Given the description of an element on the screen output the (x, y) to click on. 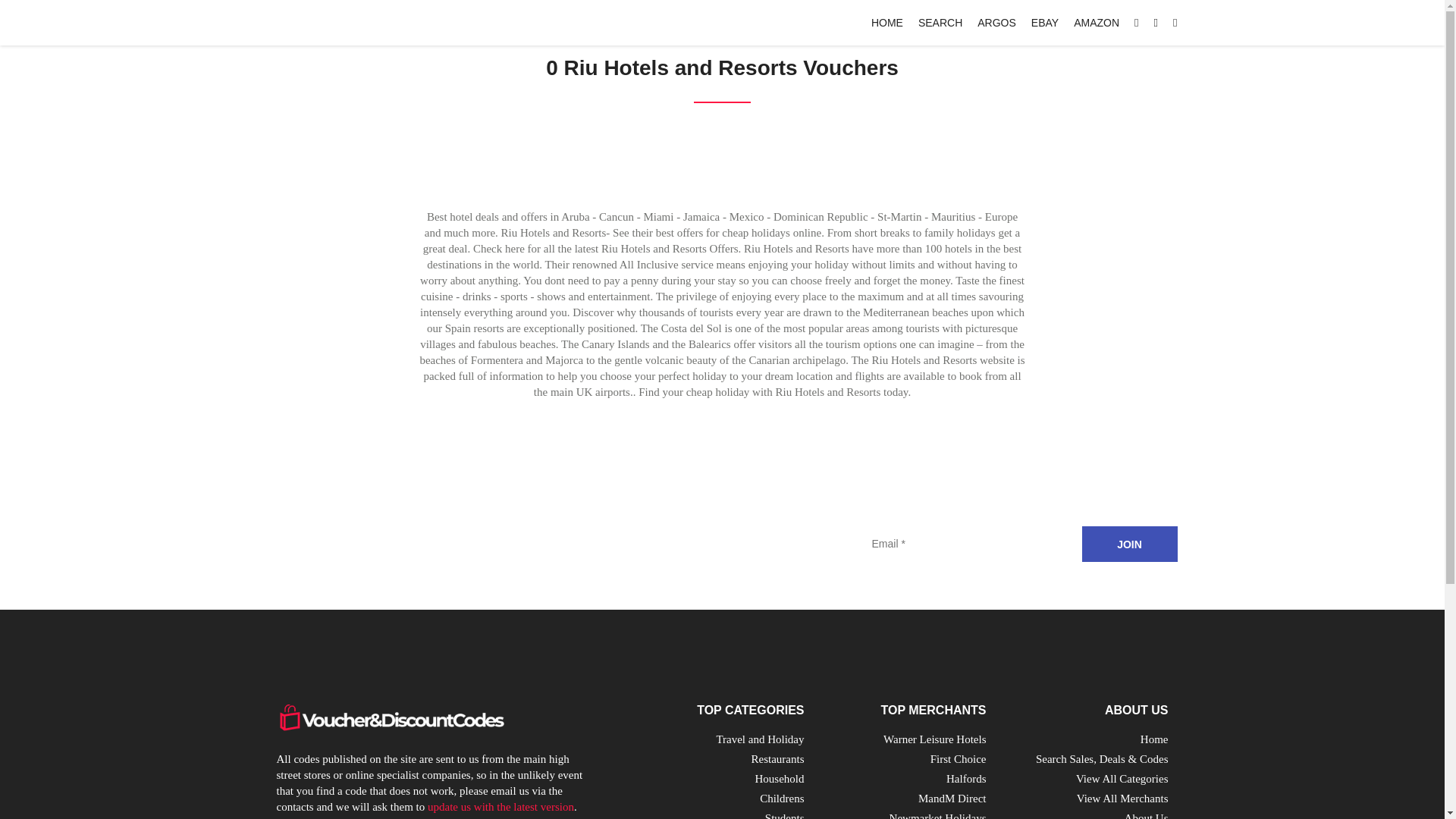
Voucher and Discount Codes (389, 718)
update us with the latest version (500, 806)
ARGOS (996, 22)
Travel and Holiday (759, 739)
Join (1128, 543)
SEARCH (940, 22)
HOME (886, 22)
AMAZON (1096, 22)
Students (785, 815)
Childrens (781, 798)
